Given the description of an element on the screen output the (x, y) to click on. 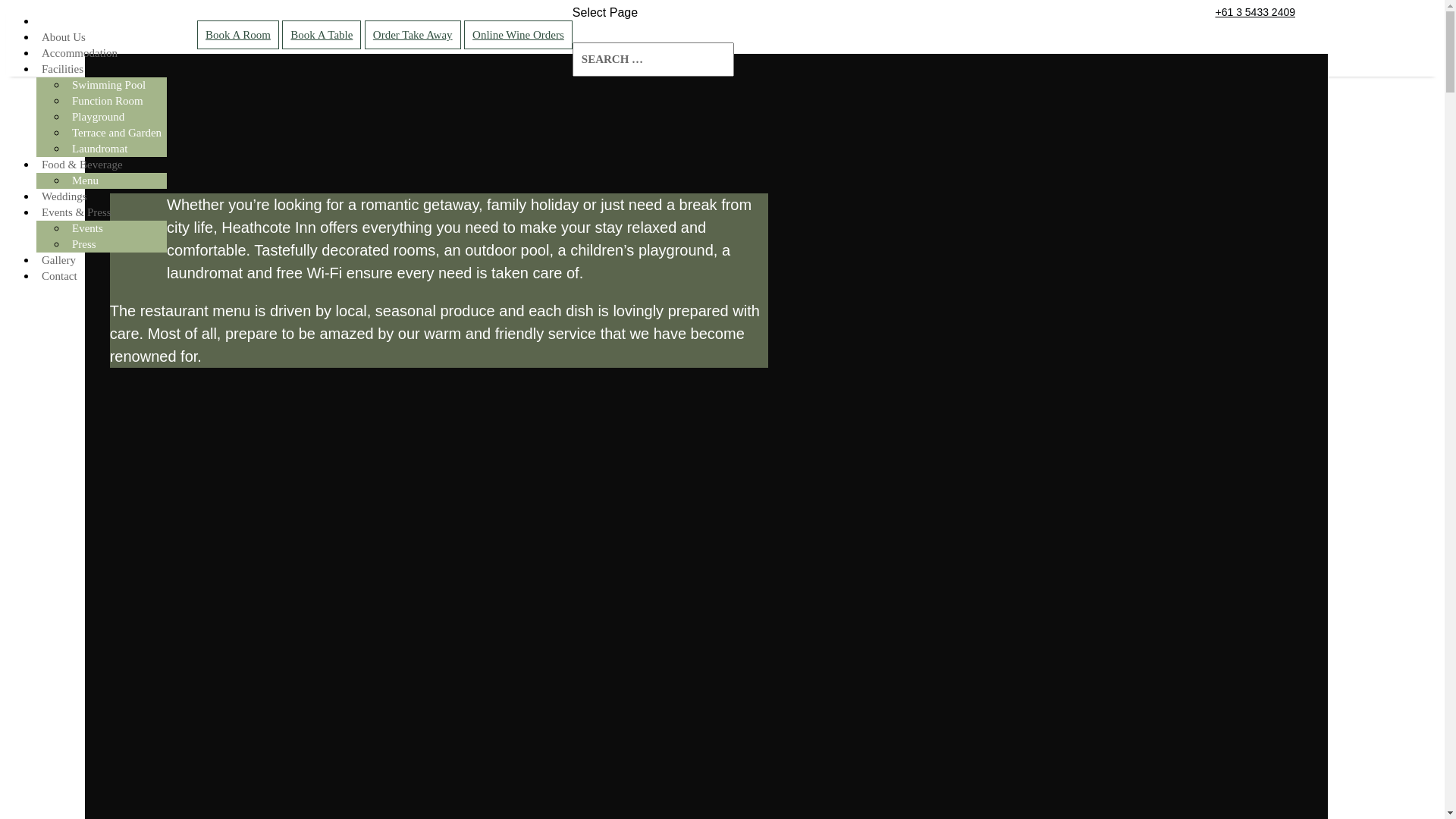
Menu Element type: text (84, 180)
Search for: Element type: hover (653, 59)
Order Take Away Element type: text (412, 34)
Home Element type: text (55, 20)
Weddings Element type: text (64, 196)
About Us Element type: text (63, 36)
Book A Room Element type: text (238, 34)
Playground Element type: text (97, 116)
Laundromat Element type: text (99, 148)
Events Element type: text (87, 227)
Swimming Pool Element type: text (108, 84)
Press Element type: text (83, 243)
Facilities Element type: text (62, 68)
Events & Press Element type: text (76, 211)
+61 3 5433 2409 Element type: text (1254, 12)
Gallery Element type: text (58, 259)
Accommodation Element type: text (79, 52)
Terrace and Garden Element type: text (116, 132)
Function Room Element type: text (107, 100)
Online Wine Orders Element type: text (518, 34)
Food & Beverage Element type: text (82, 164)
Book A Table Element type: text (321, 34)
Contact Element type: text (59, 275)
